Given the description of an element on the screen output the (x, y) to click on. 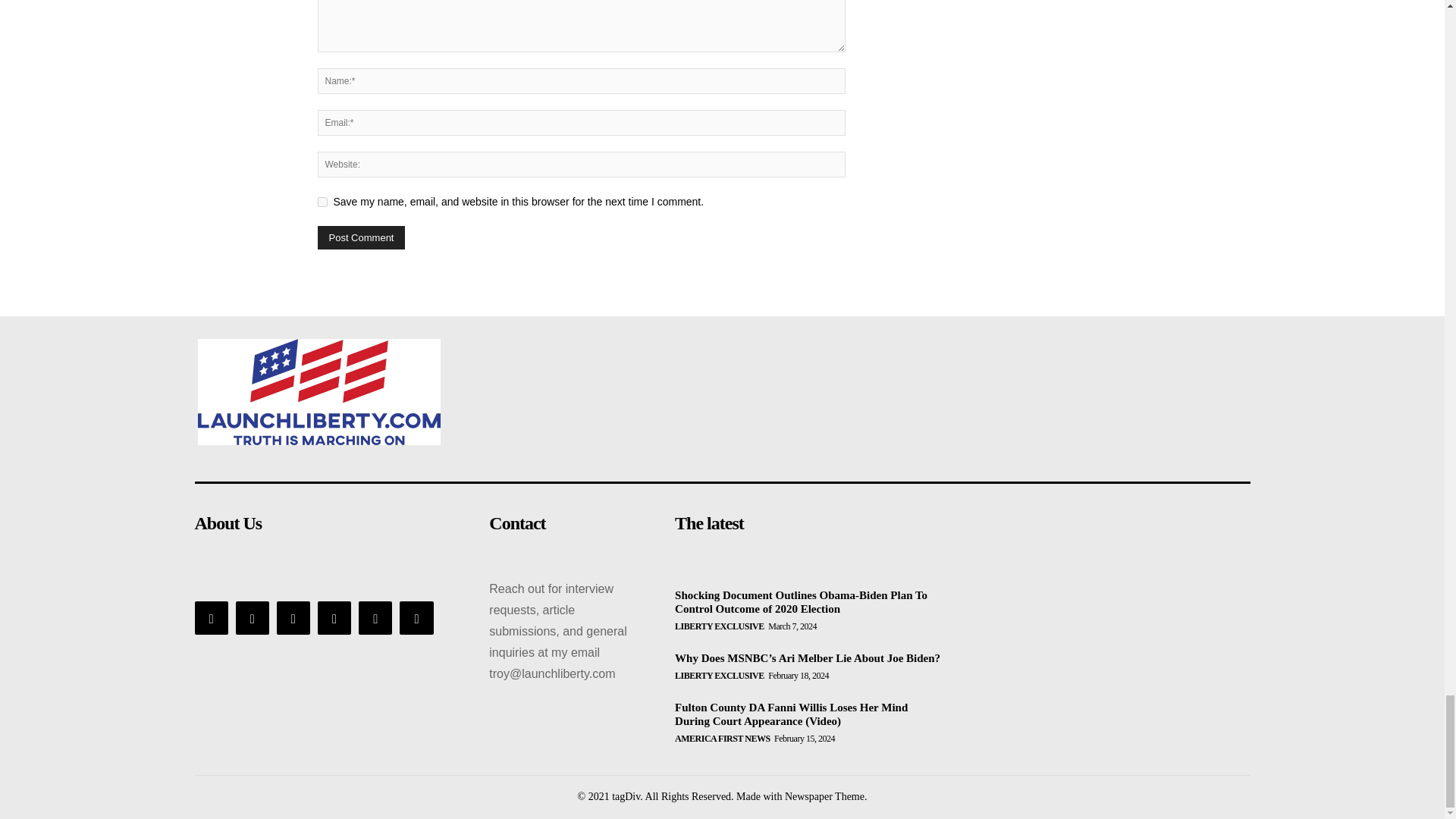
Post Comment (360, 237)
yes (321, 202)
